Given the description of an element on the screen output the (x, y) to click on. 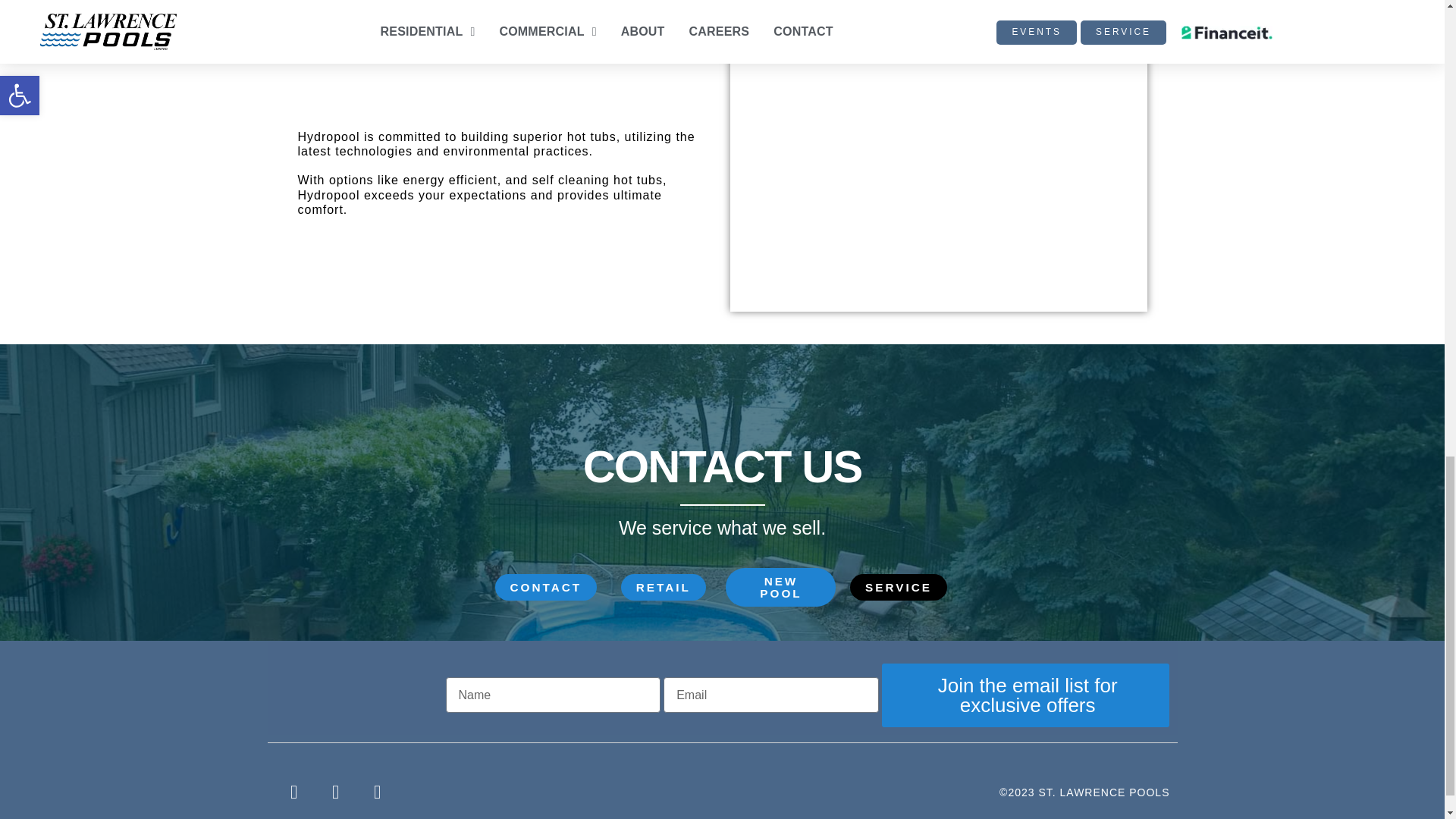
Hydropool 6 (938, 168)
Hydropool 7 (722, 404)
